Given the description of an element on the screen output the (x, y) to click on. 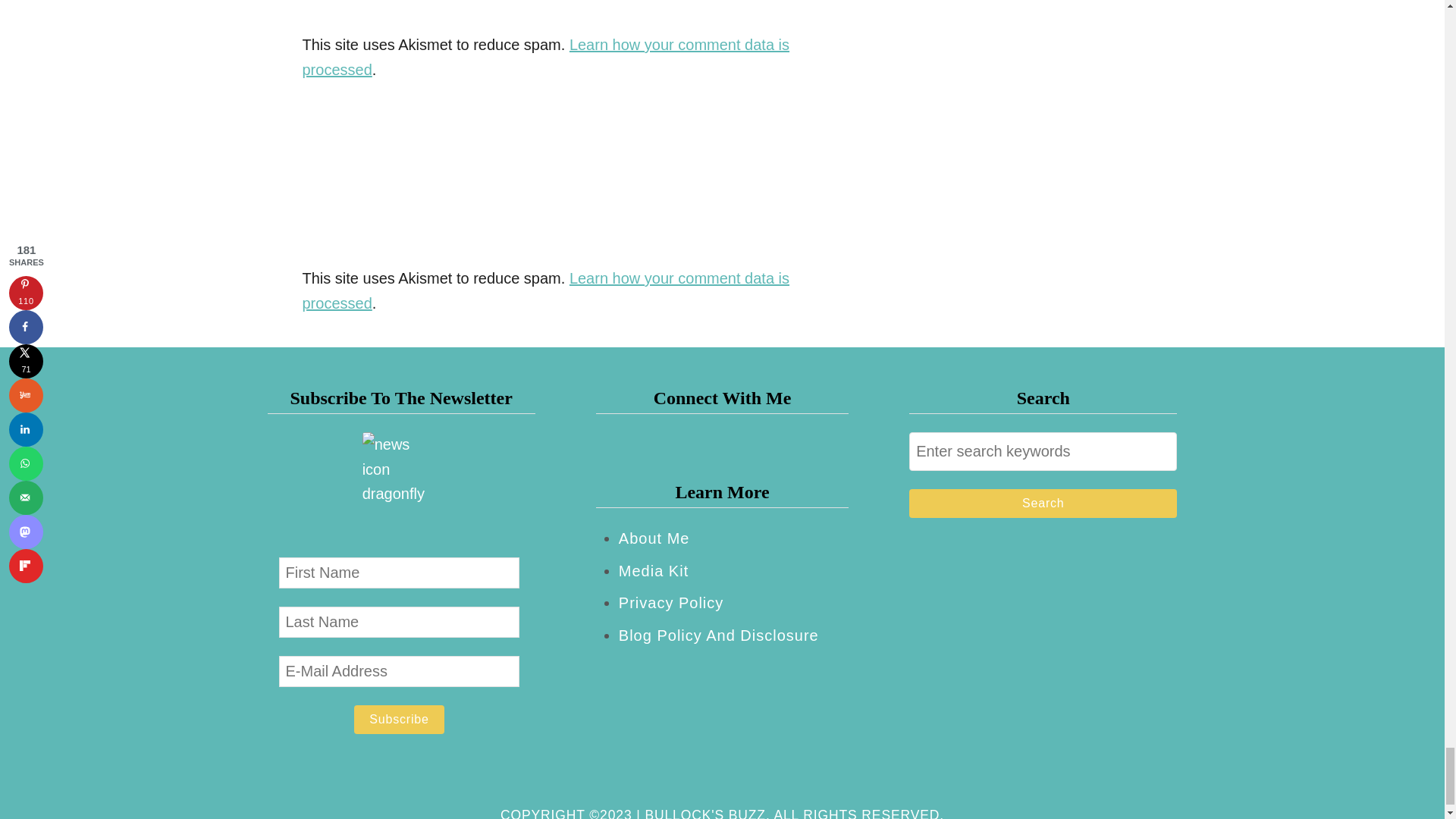
Search (1042, 502)
Search (1042, 502)
Subscribe (398, 719)
